Given the description of an element on the screen output the (x, y) to click on. 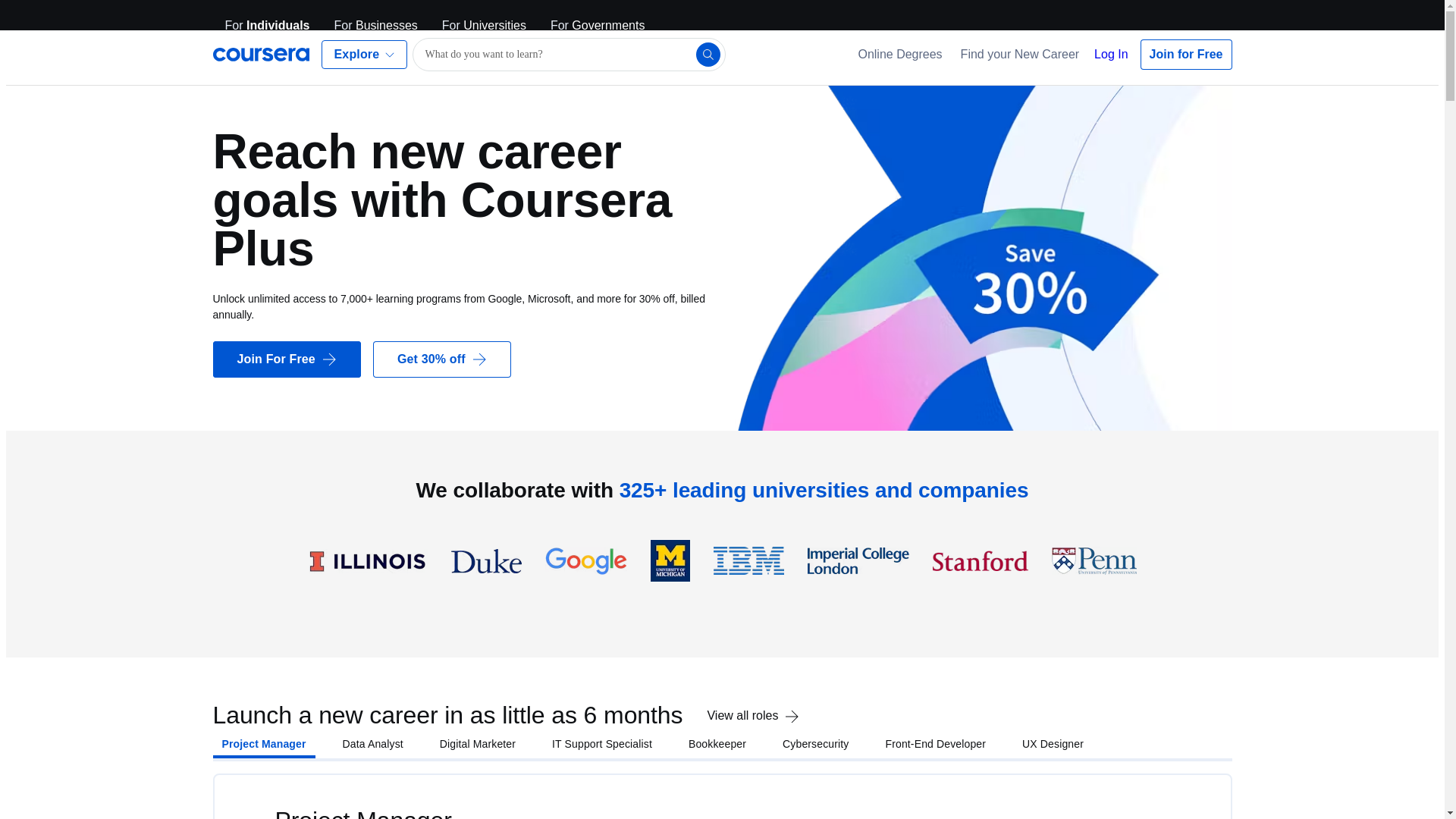
Join for Free (1185, 54)
For Universities (483, 25)
Data Analyst (372, 755)
Front-End Developer (935, 747)
Project Manager (263, 756)
Digital Marketer (477, 752)
View all roles (753, 733)
Bookkeeper (717, 748)
For Individuals (266, 25)
